Given the description of an element on the screen output the (x, y) to click on. 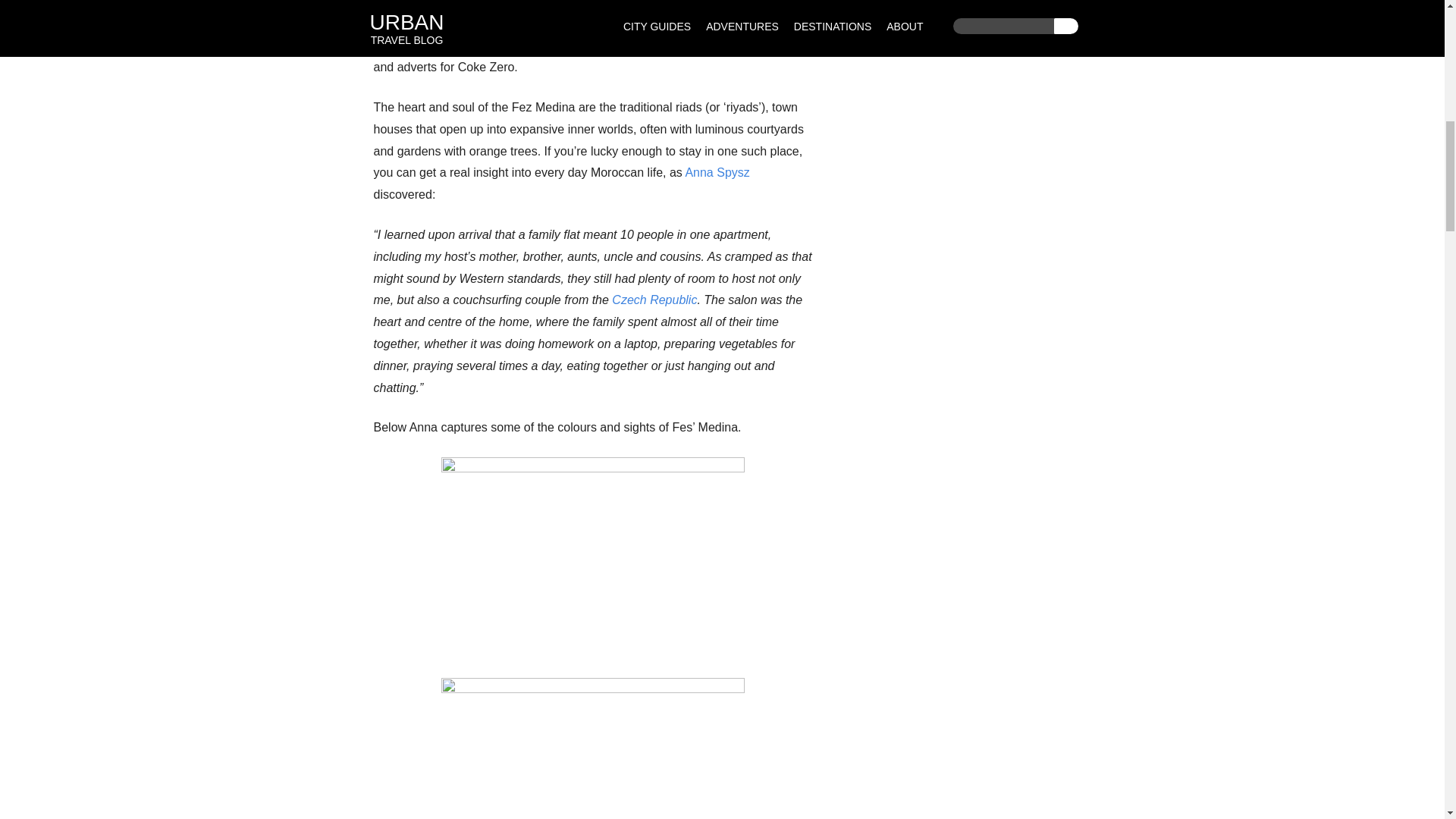
Anna Spysz (716, 172)
Czech Republic (654, 299)
Facebook (608, 23)
